Given the description of an element on the screen output the (x, y) to click on. 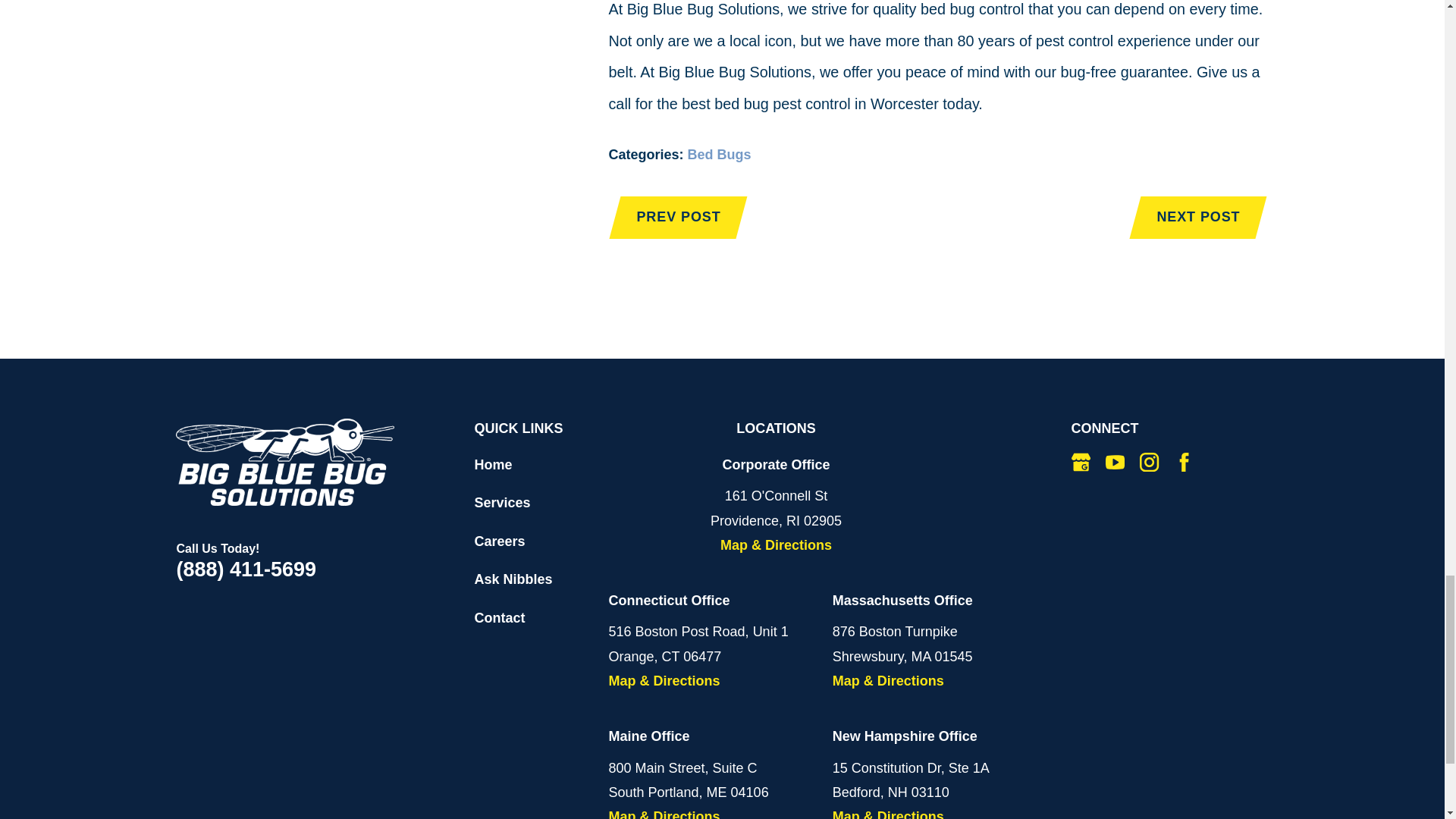
Instagram (1149, 461)
Home (285, 462)
YouTube (1114, 461)
Google Business Profile (1080, 461)
